Given the description of an element on the screen output the (x, y) to click on. 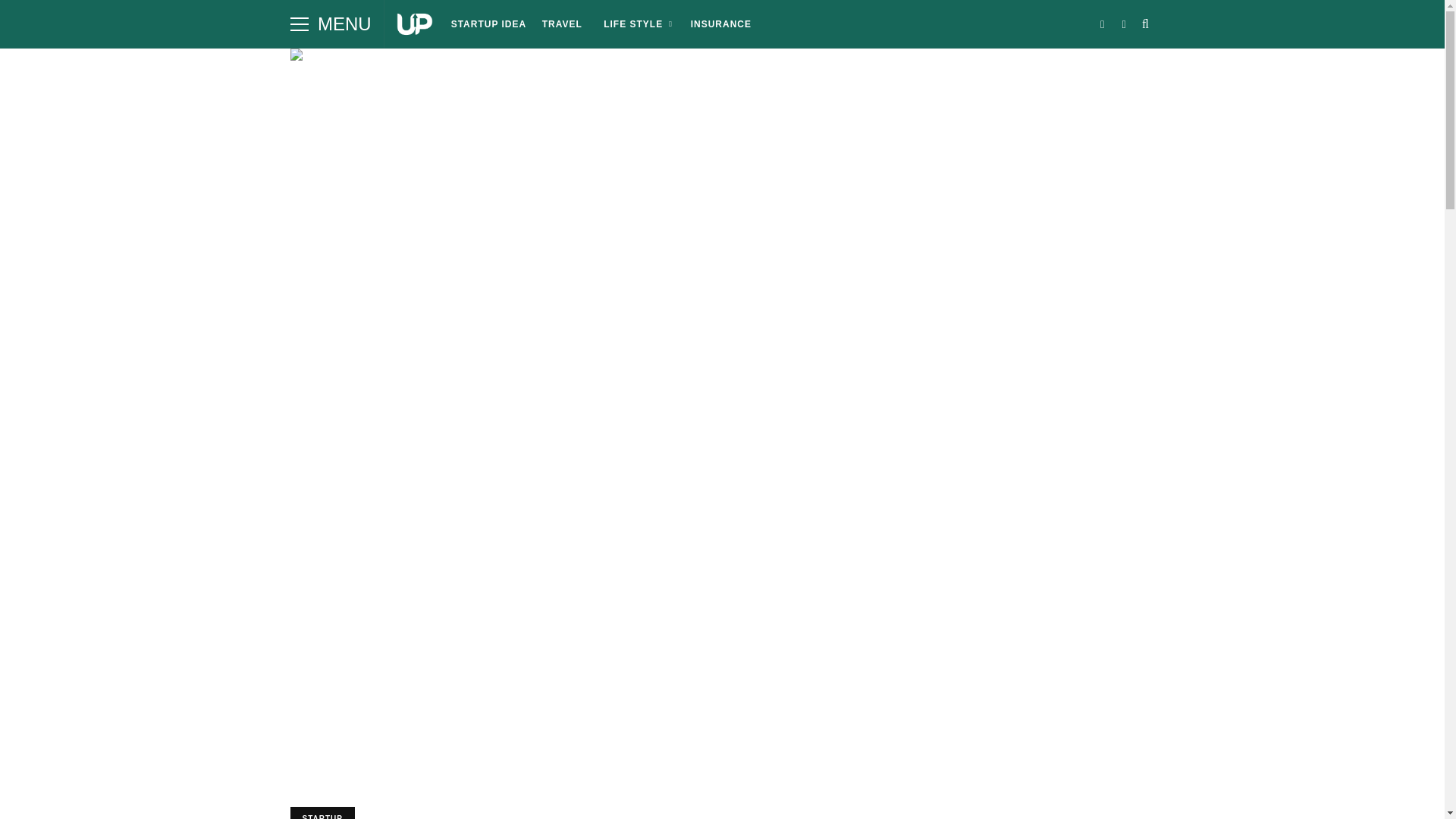
STARTUP IDEA (488, 24)
TRAVEL (561, 24)
LIFE STYLE (636, 24)
STARTUP (321, 812)
INSURANCE (720, 24)
